Given the description of an element on the screen output the (x, y) to click on. 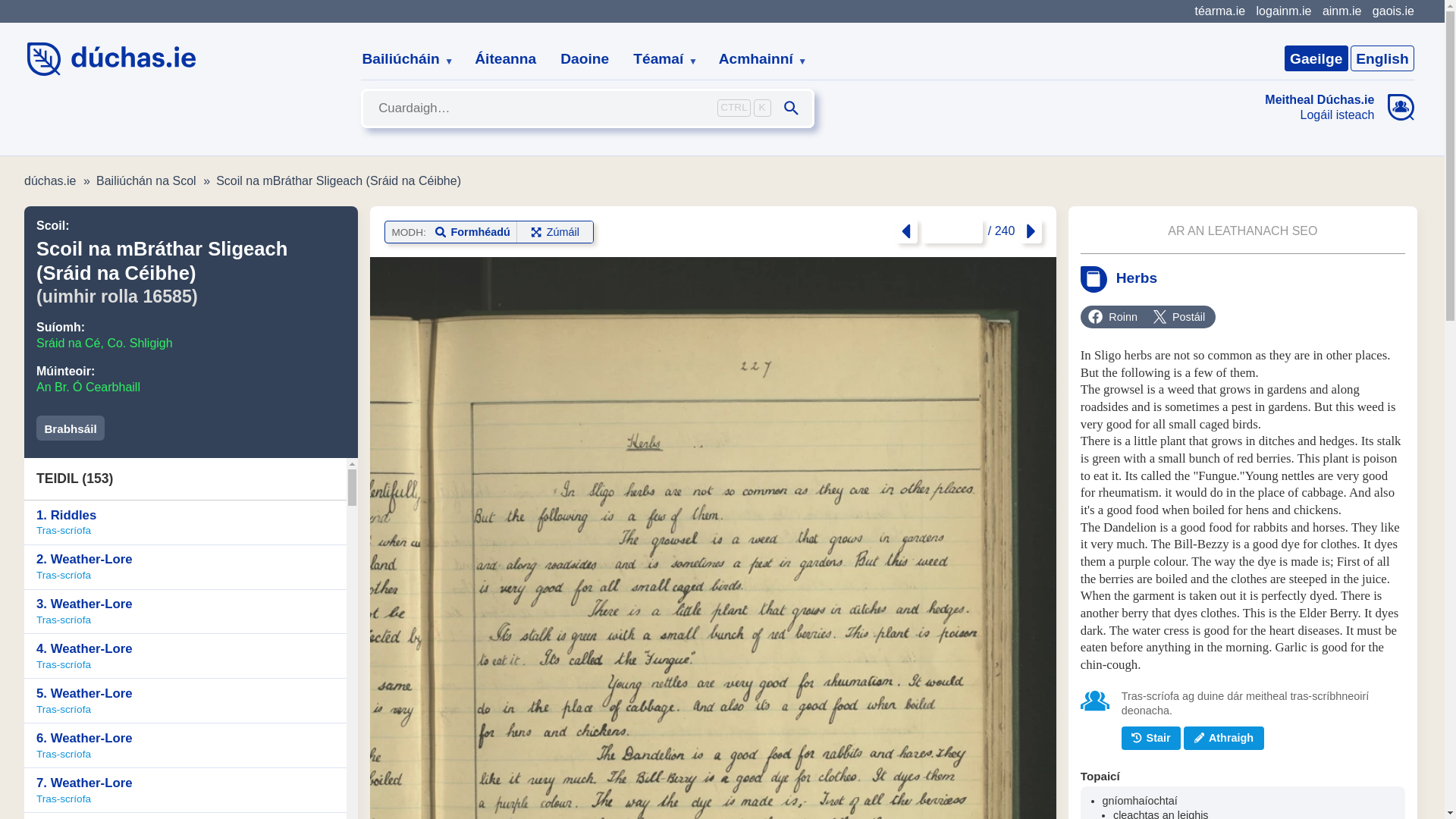
gaois.ie (1393, 11)
Daoine (584, 58)
logainm.ie (1283, 11)
ainm.ie (1341, 11)
Gaeilge (1316, 58)
English (1382, 58)
